Given the description of an element on the screen output the (x, y) to click on. 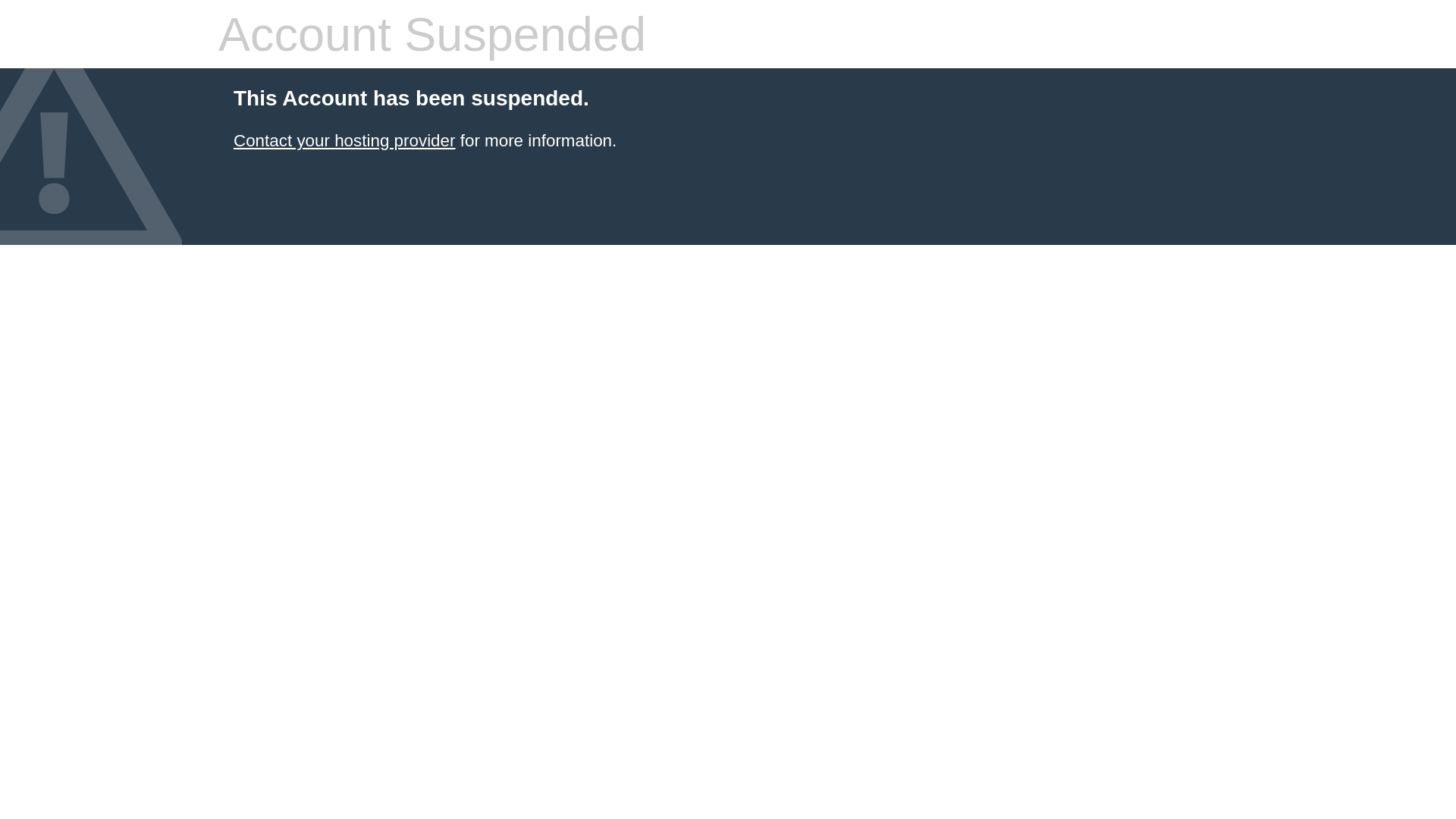
Contact your hosting provider Element type: text (344, 140)
